Given the description of an element on the screen output the (x, y) to click on. 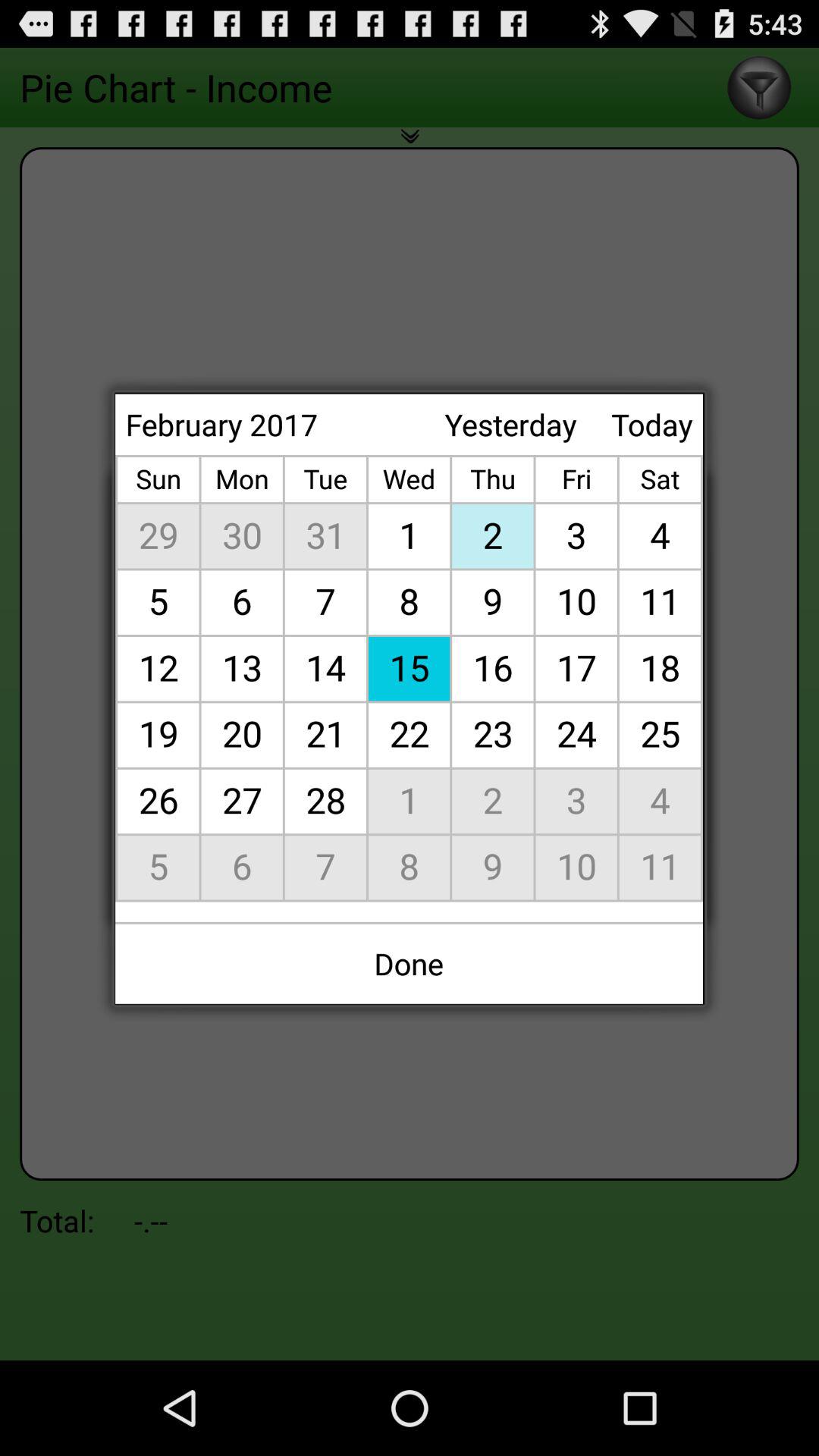
flip to today (651, 424)
